Given the description of an element on the screen output the (x, y) to click on. 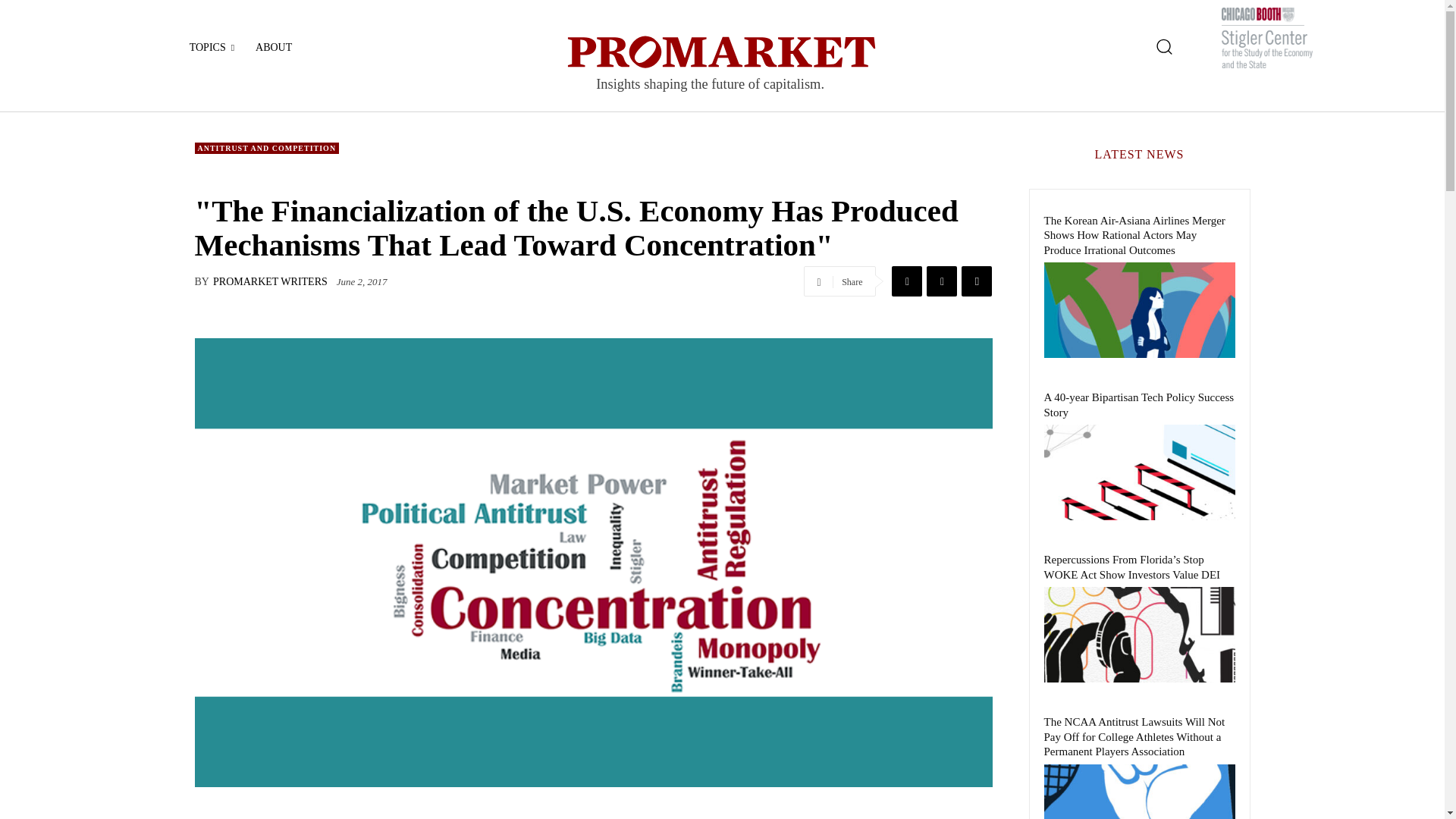
Twitter (941, 281)
TOPICS (211, 46)
Insights shaping the future of capitalism. (721, 68)
Facebook (906, 281)
Insights shaping the future of capitalism. (721, 68)
ABOUT (273, 46)
Email (975, 281)
